Given the description of an element on the screen output the (x, y) to click on. 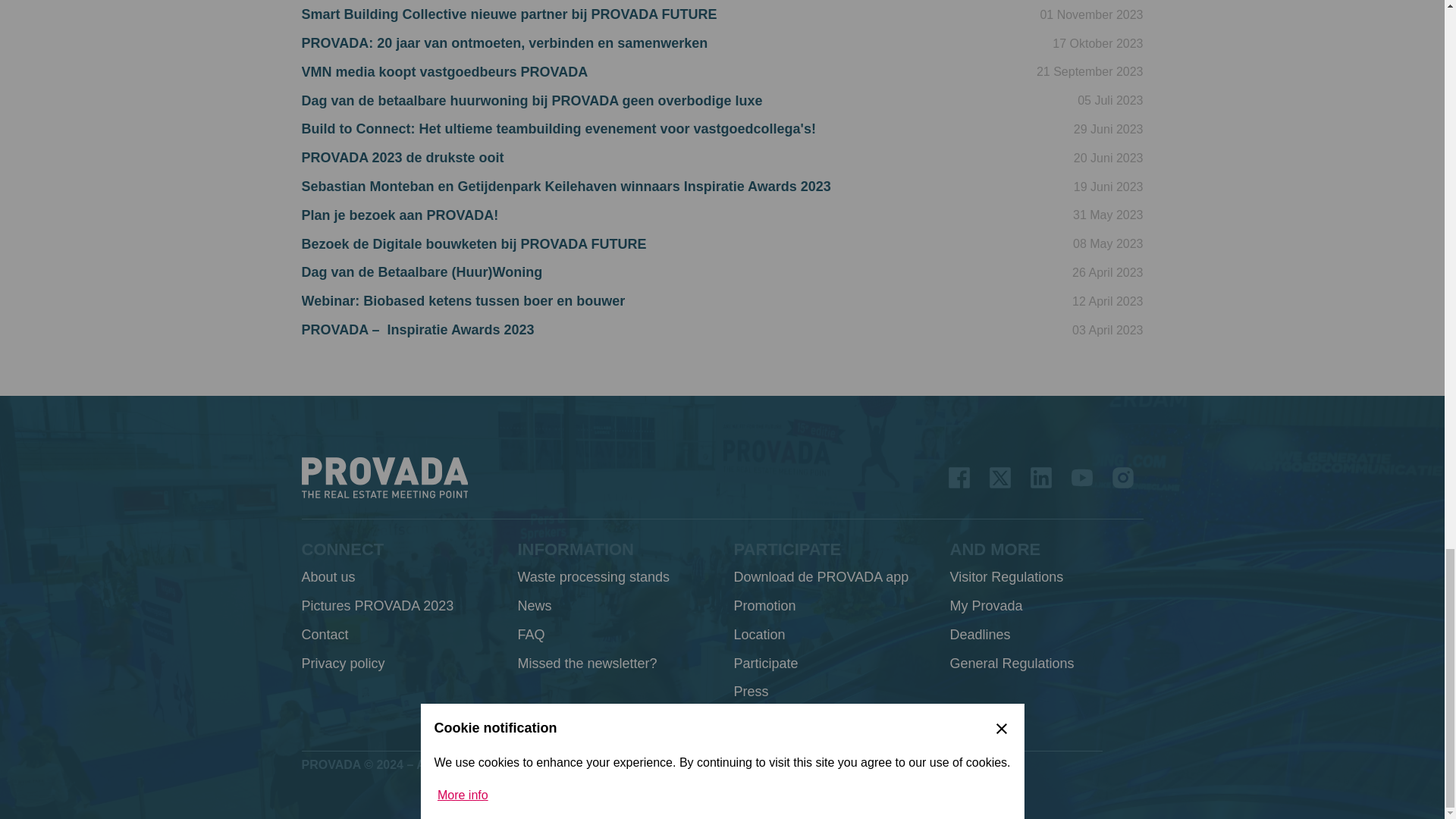
Facebook (958, 477)
